Given the description of an element on the screen output the (x, y) to click on. 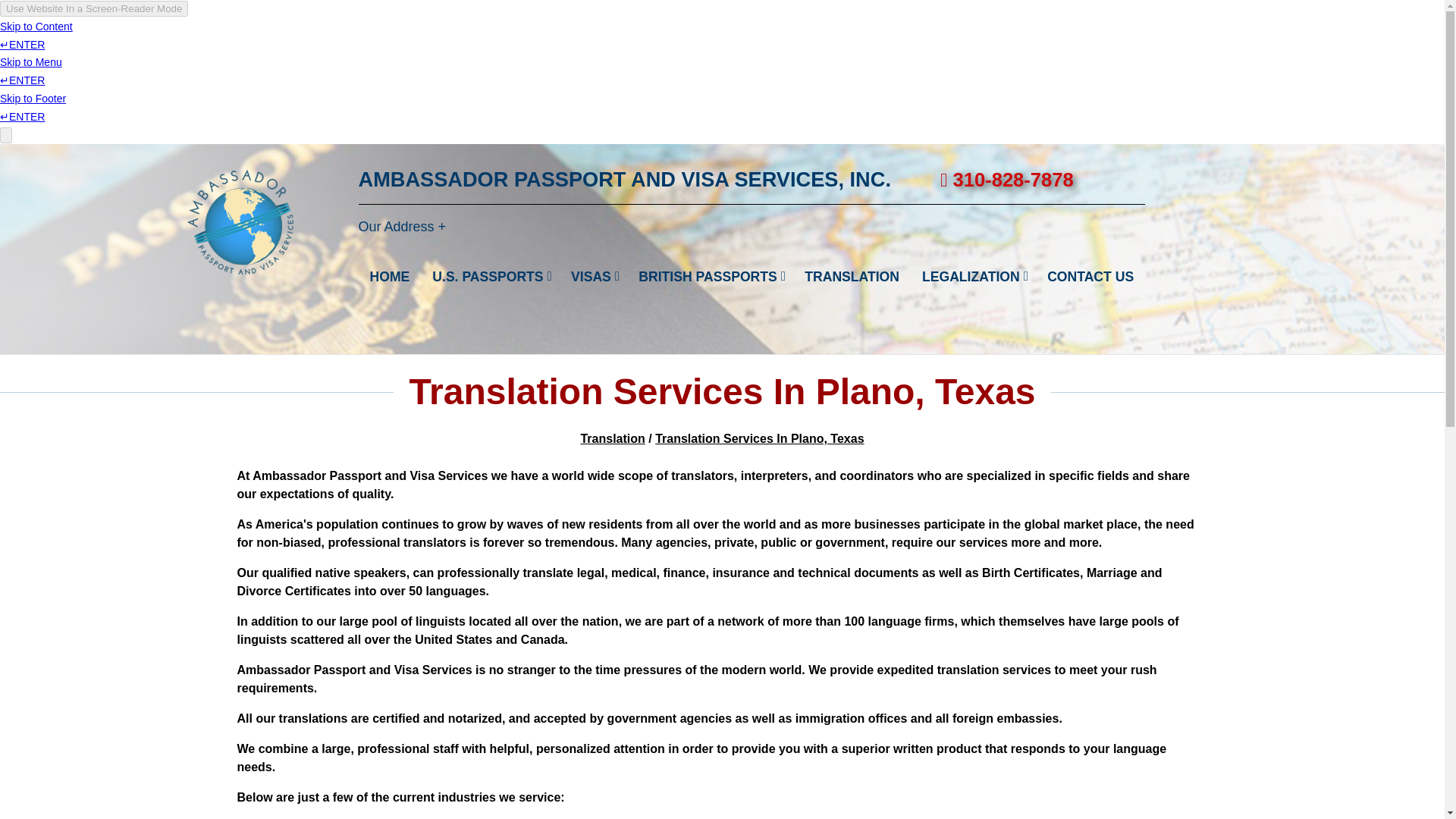
310-828-7878 (982, 179)
LEGALIZATION (973, 276)
TRANSLATION (852, 276)
HOME (389, 276)
U.S. PASSPORTS (489, 276)
BRITISH PASSPORTS (710, 276)
VISAS (593, 276)
